Given the description of an element on the screen output the (x, y) to click on. 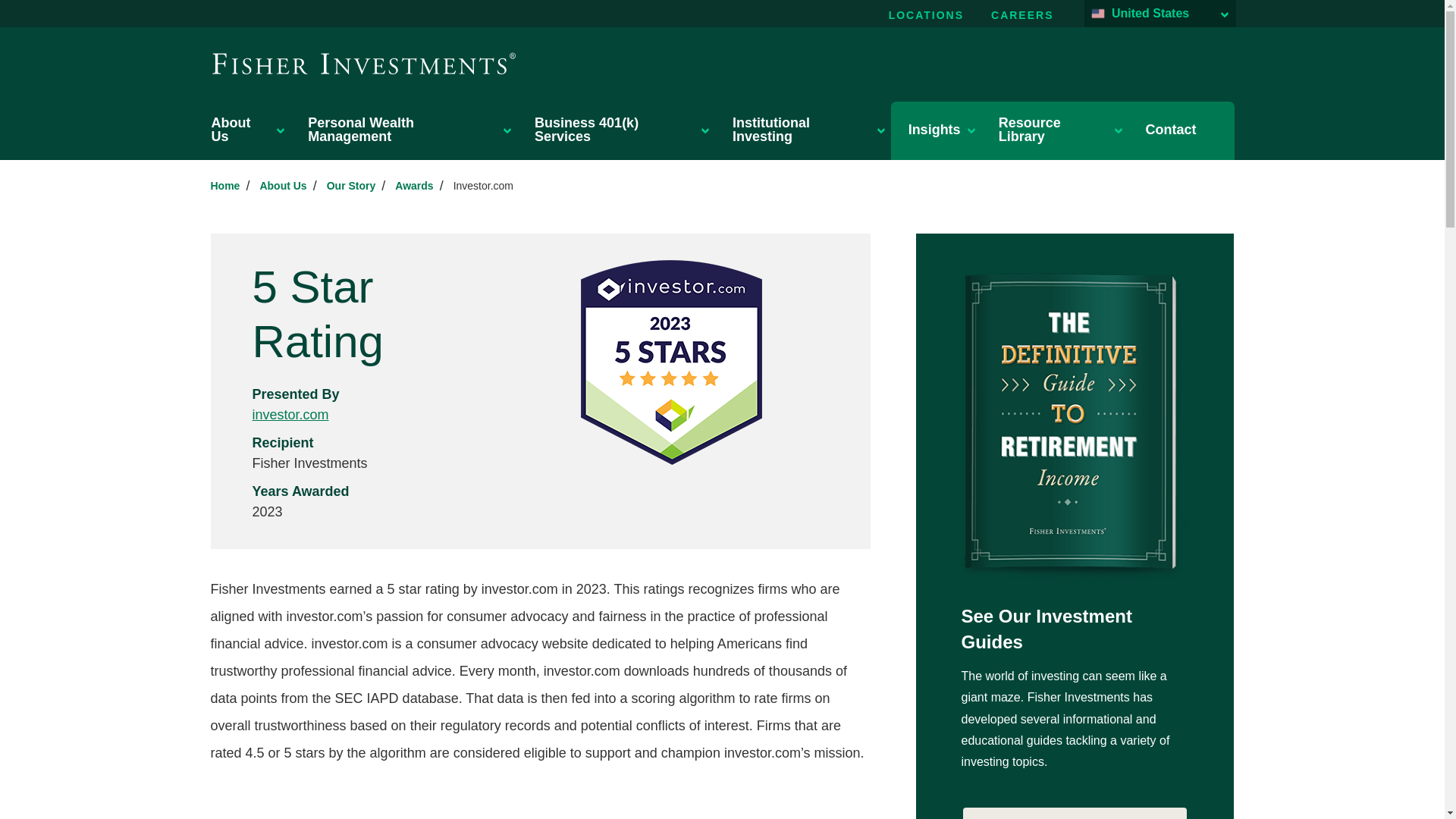
Personal Wealth Management (408, 129)
Home (225, 185)
awards (413, 185)
CAREERS (1021, 14)
About Us (246, 129)
LOCATIONS (926, 14)
To Home Page (363, 62)
our-story (350, 185)
investordotcom (482, 185)
about (282, 185)
